Given the description of an element on the screen output the (x, y) to click on. 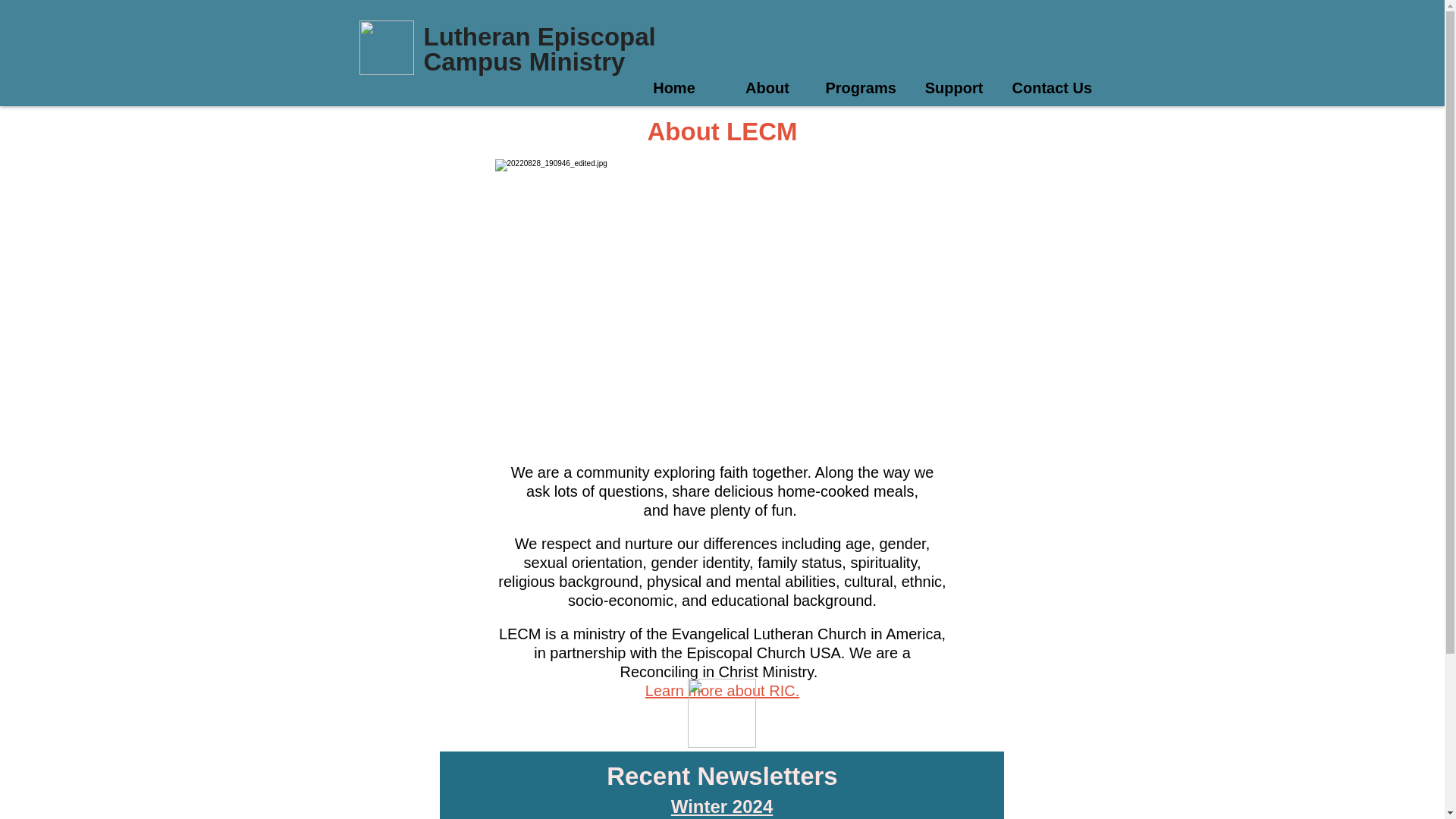
unc winter retreat.jpg (722, 305)
unnamed.png (721, 712)
Contact Us (1047, 87)
Support (953, 87)
About (766, 87)
Winter 2024 (722, 806)
Home (673, 87)
Programs (860, 87)
Learn more about RIC. (722, 690)
